Given the description of an element on the screen output the (x, y) to click on. 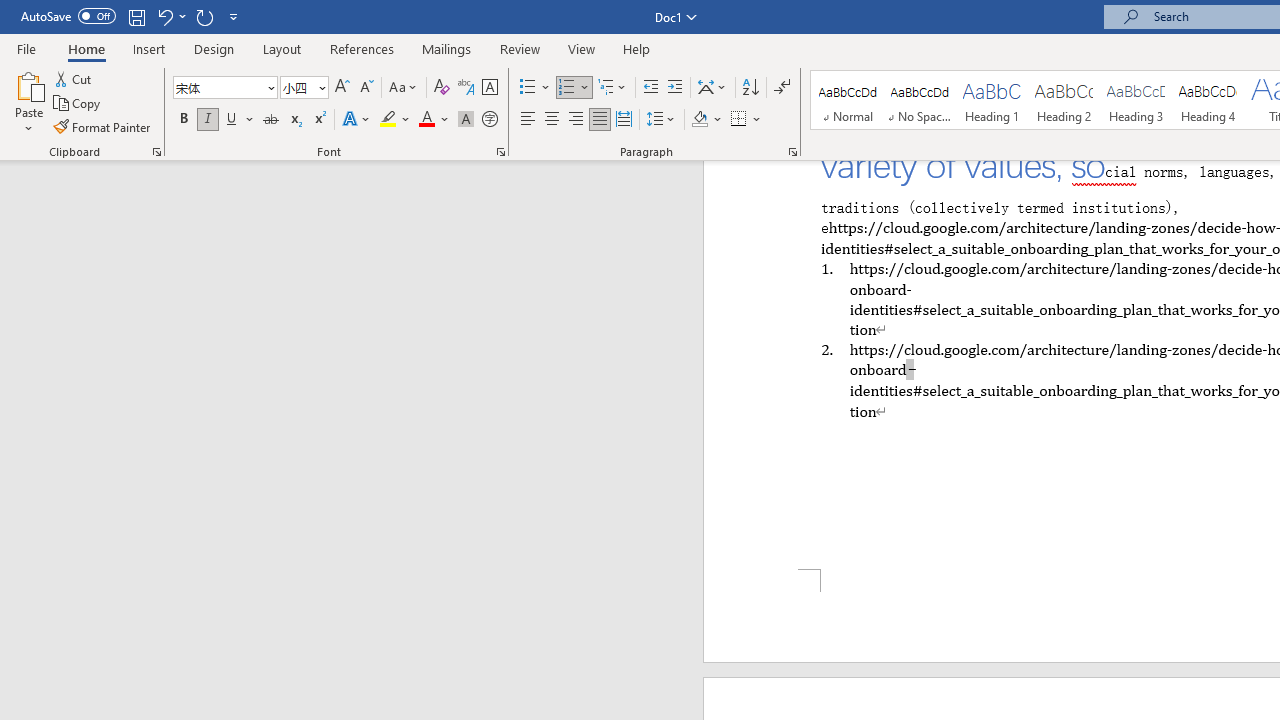
Font Color Automatic (426, 119)
Heading 1 (991, 100)
